Given the description of an element on the screen output the (x, y) to click on. 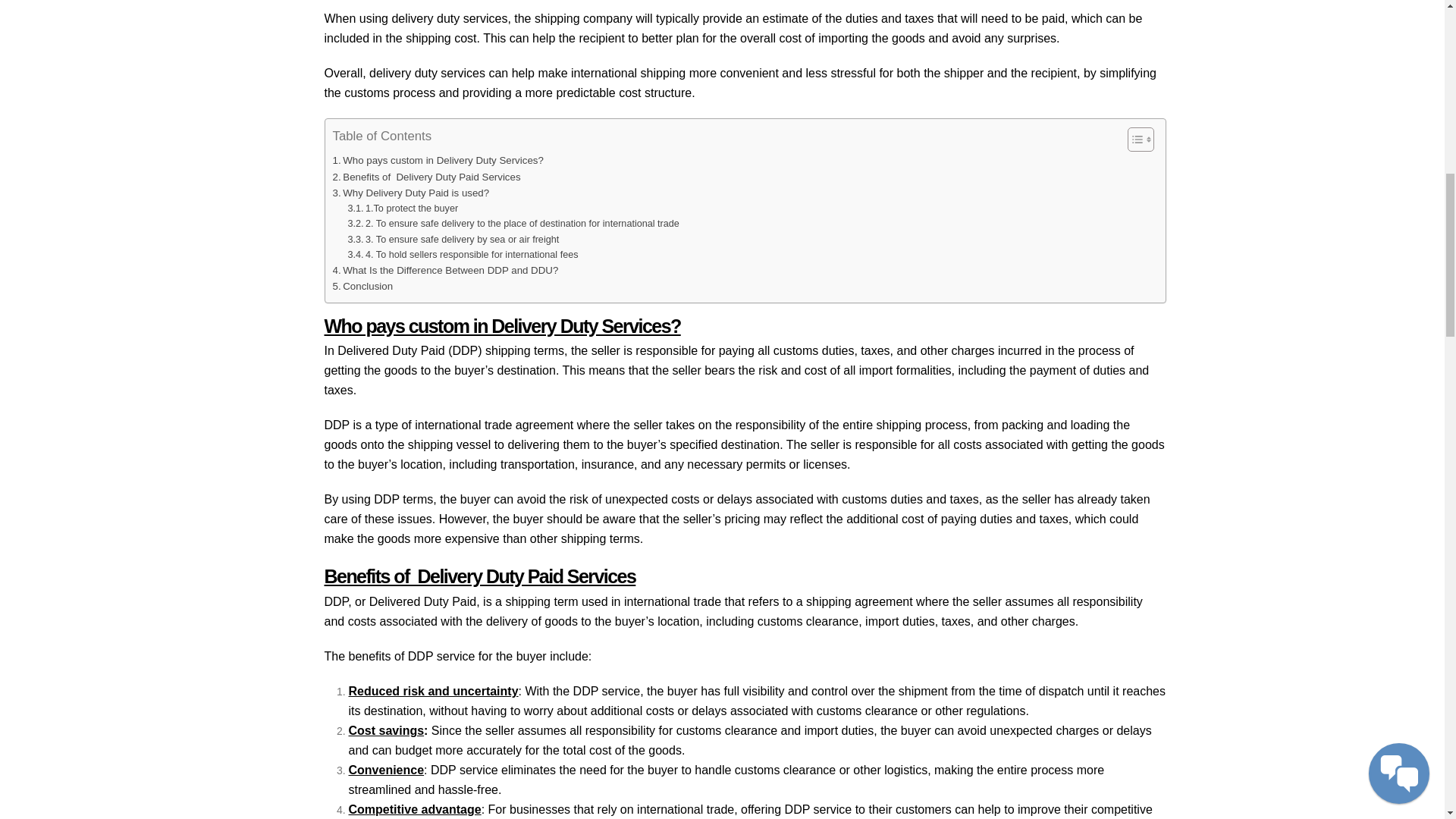
Why Delivery Duty Paid is used? (410, 192)
Who pays custom in Delivery Duty Services? (437, 160)
1.To protect the buyer (402, 208)
